Given the description of an element on the screen output the (x, y) to click on. 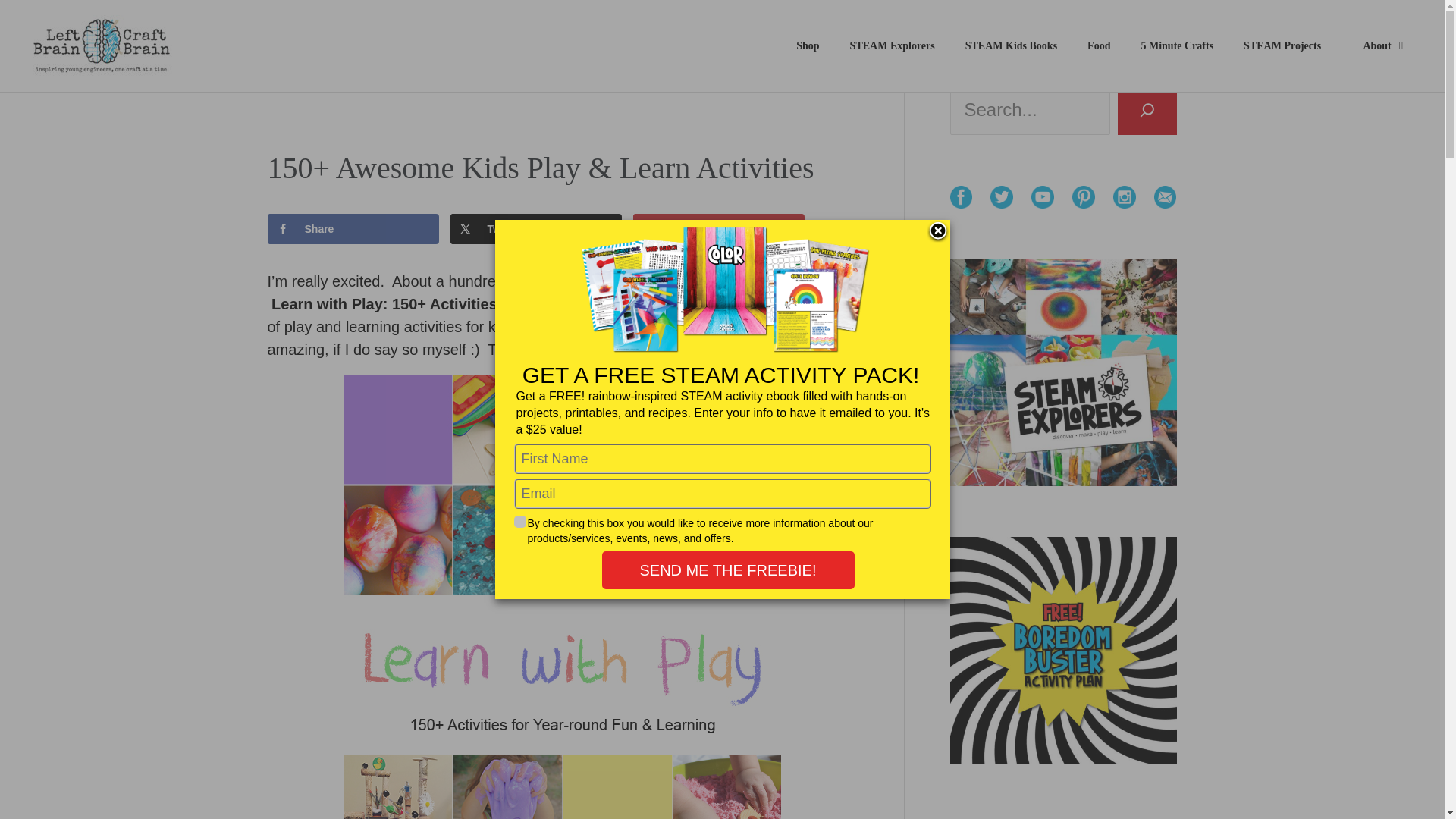
Tweet (536, 228)
Share on X (536, 228)
Share (352, 228)
STEAM Explorers (892, 45)
5 Minute Crafts (1176, 45)
SEND ME THE FREEBIE! (728, 569)
Close (937, 231)
Save to Pinterest (719, 228)
Pin (719, 228)
STEAM Projects (1288, 45)
Share on Facebook (352, 228)
STEAM Kids Books (1010, 45)
